Given the description of an element on the screen output the (x, y) to click on. 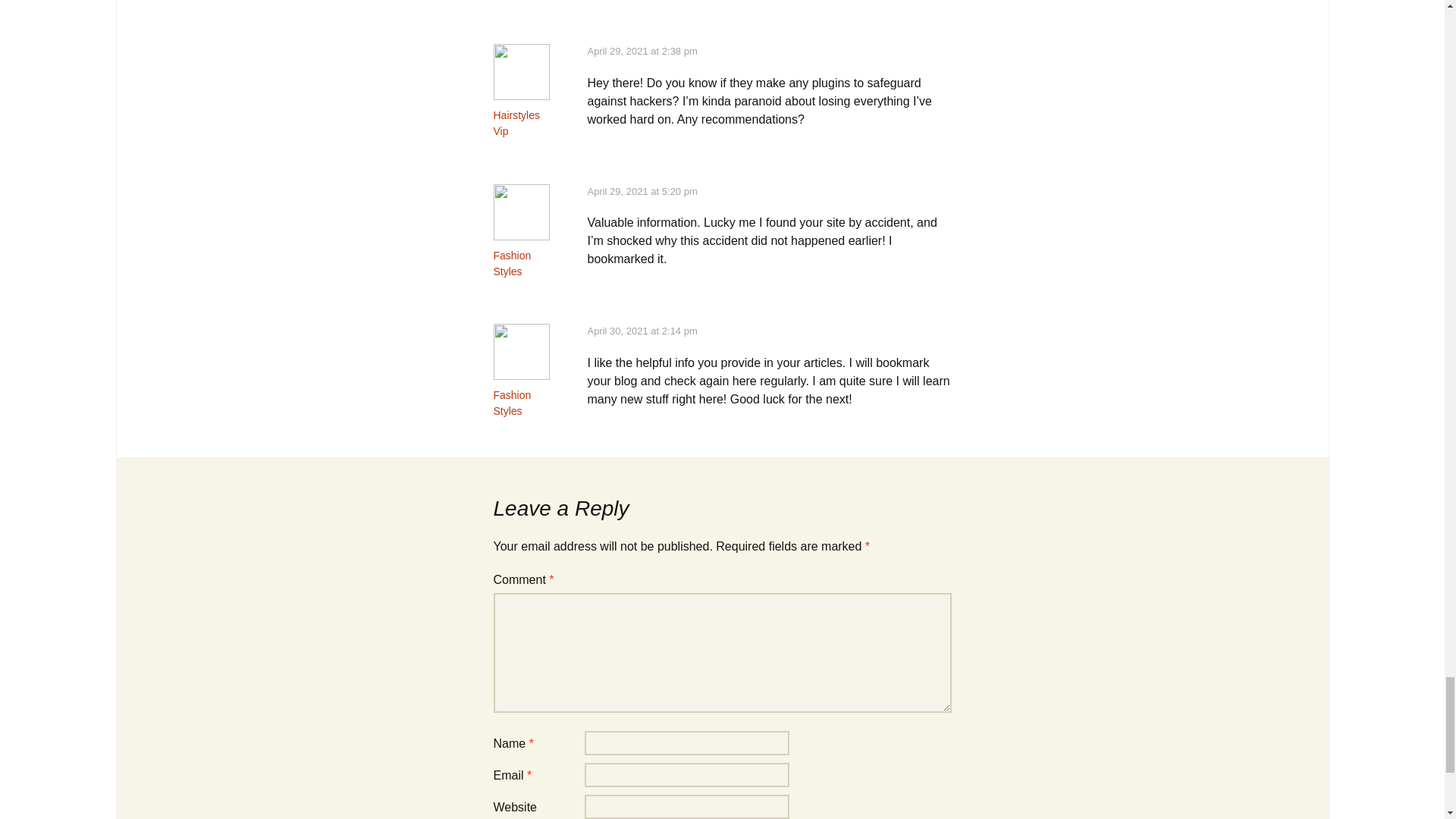
April 30, 2021 at 2:14 pm (641, 330)
April 29, 2021 at 5:20 pm (641, 191)
Fashion Styles (512, 263)
Fashion Styles (512, 402)
Hairstyles Vip (515, 122)
April 29, 2021 at 2:38 pm (641, 50)
